Given the description of an element on the screen output the (x, y) to click on. 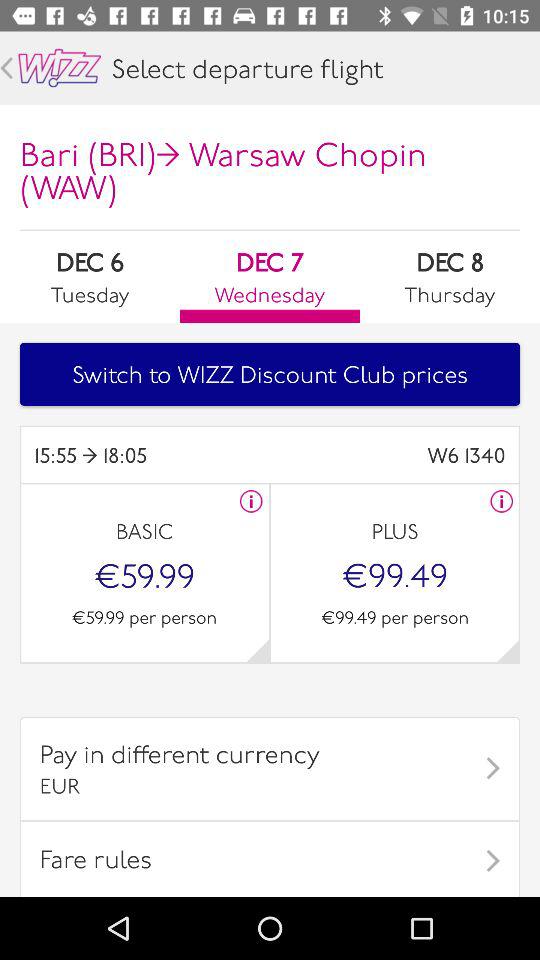
more info (501, 501)
